Given the description of an element on the screen output the (x, y) to click on. 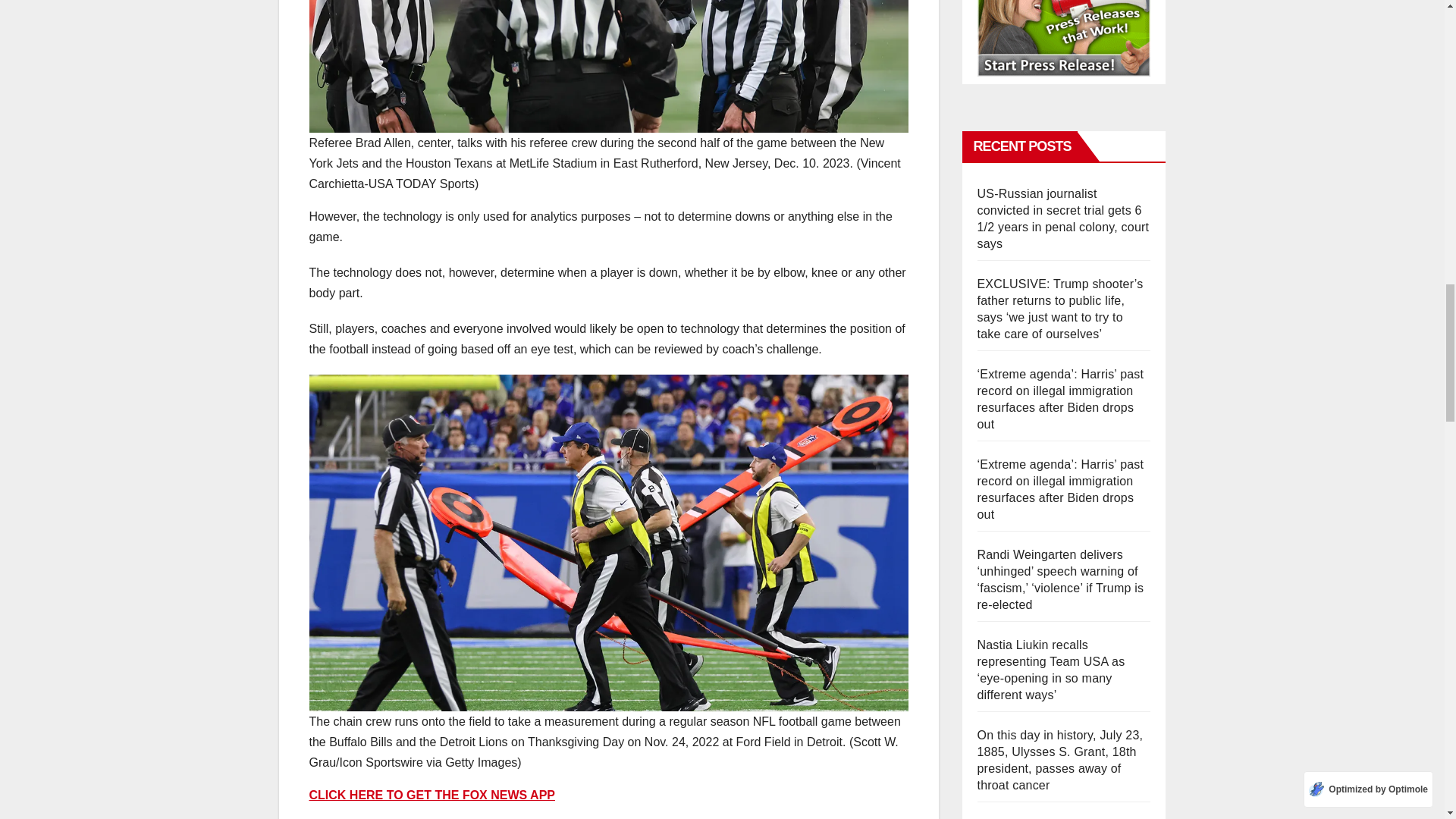
CLICK HERE TO GET THE FOX NEWS APP (431, 794)
